Given the description of an element on the screen output the (x, y) to click on. 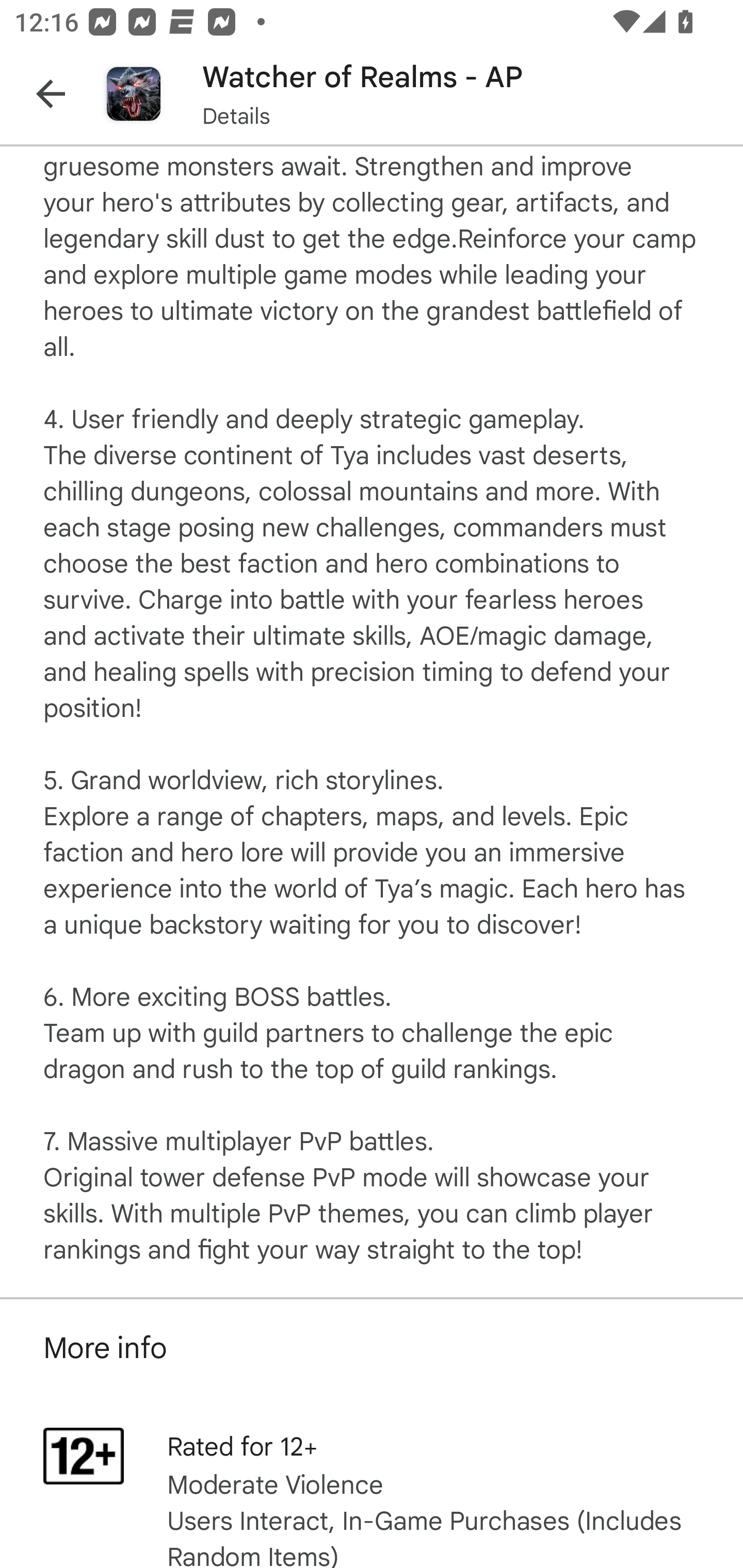
Navigate up (50, 93)
